Given the description of an element on the screen output the (x, y) to click on. 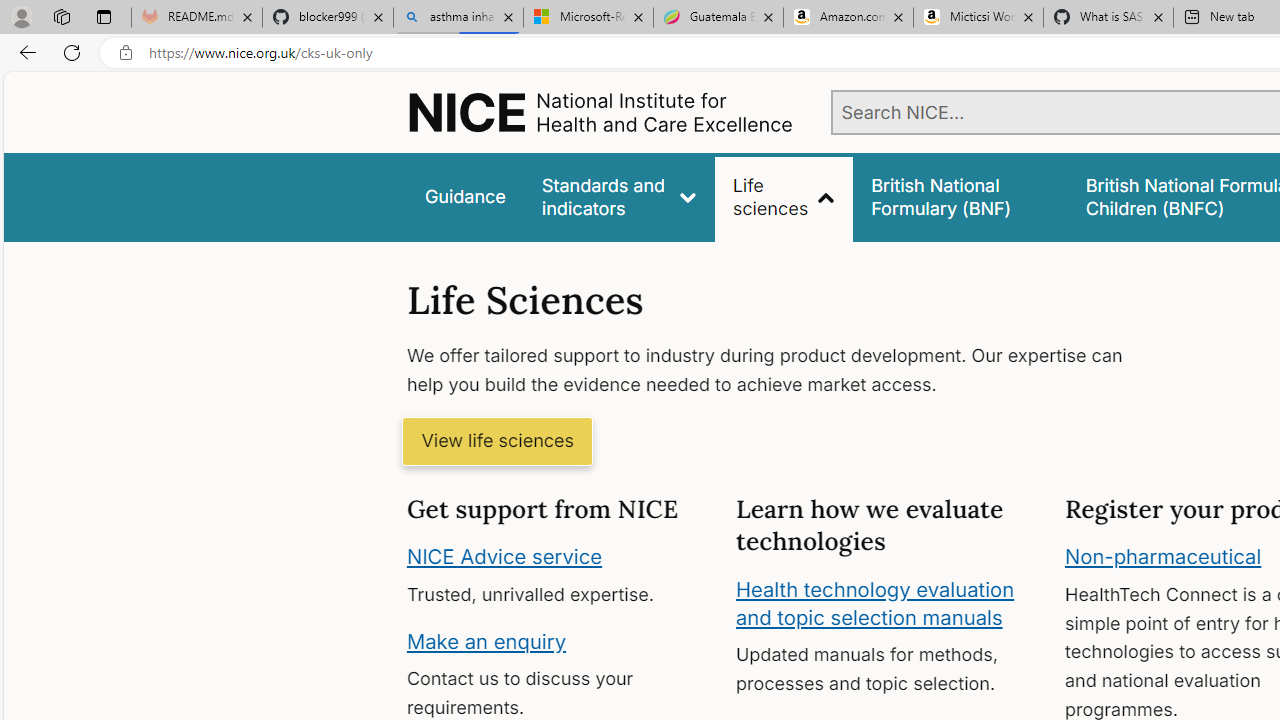
Health technology evaluation and topic selection manuals (874, 603)
Life sciences (783, 196)
NICE Advice service (503, 557)
false (959, 196)
